Given the description of an element on the screen output the (x, y) to click on. 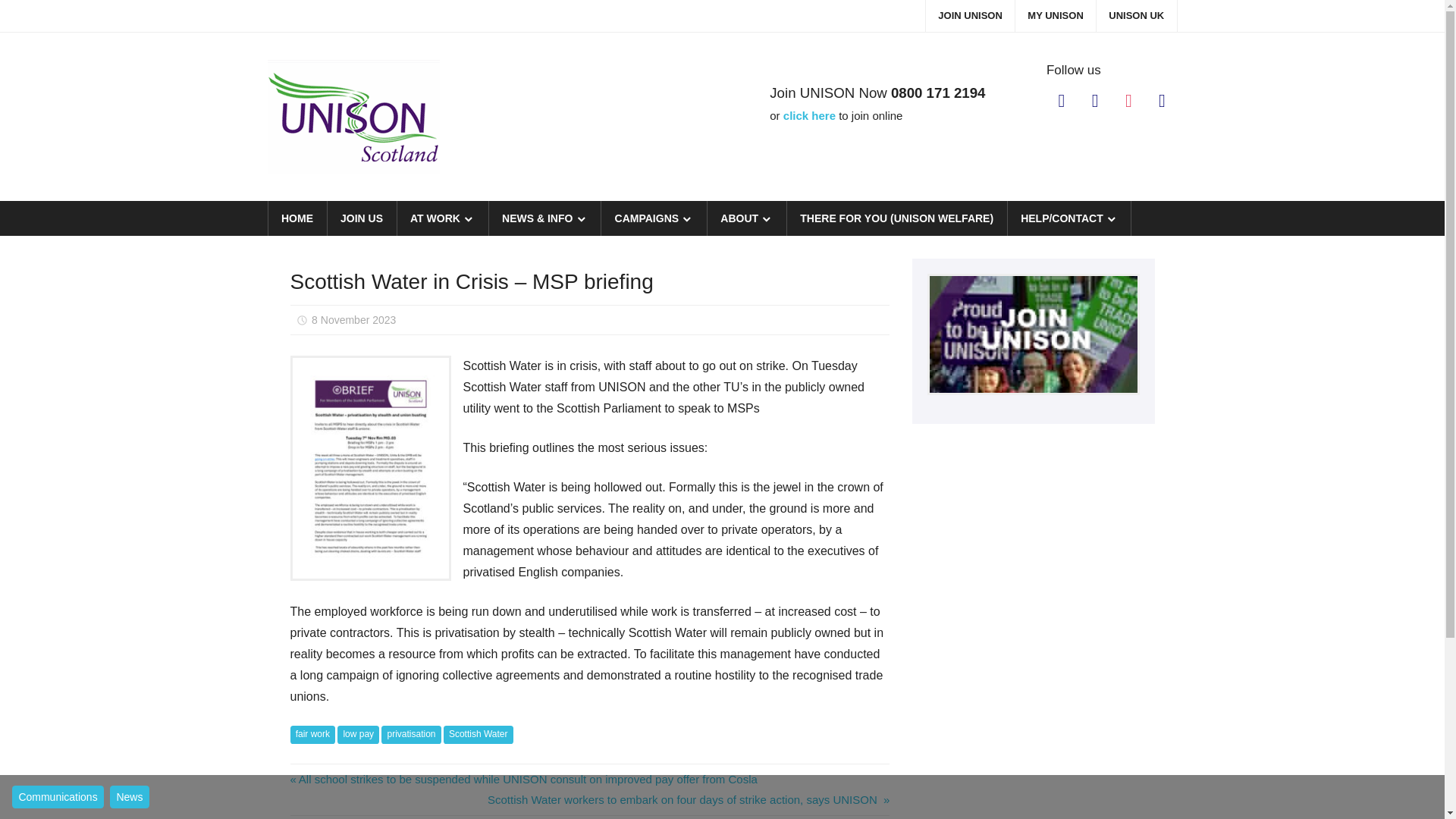
Default Label (1161, 99)
Instagram (1128, 99)
View all posts by Stephen Low (461, 319)
facebook (1061, 99)
JOIN US (362, 217)
instagram (1128, 99)
MY UNISON (1055, 15)
CAMPAIGNS (654, 217)
HOME (297, 217)
twitter (1094, 99)
